Given the description of an element on the screen output the (x, y) to click on. 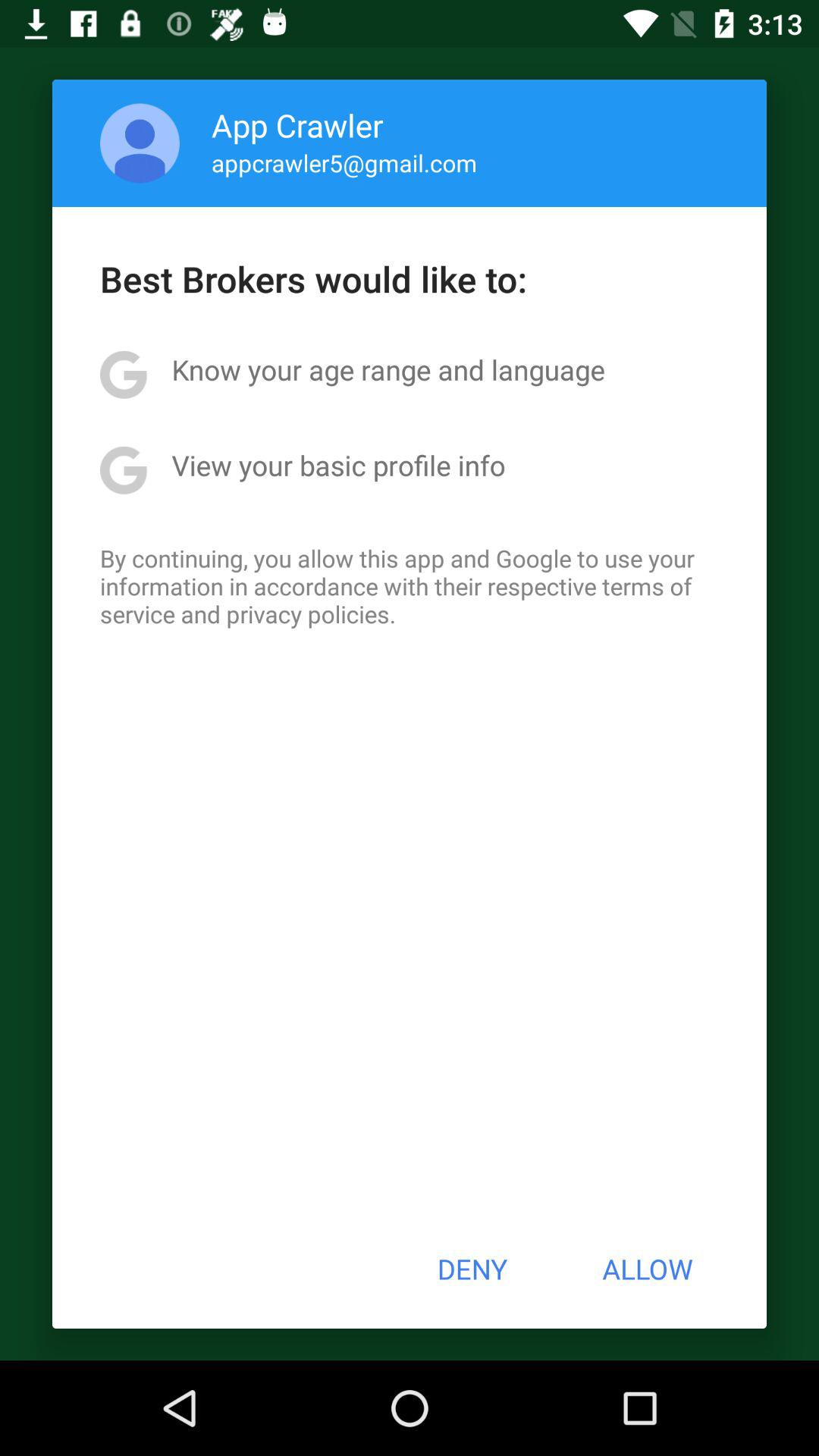
tap icon below best brokers would (388, 369)
